Given the description of an element on the screen output the (x, y) to click on. 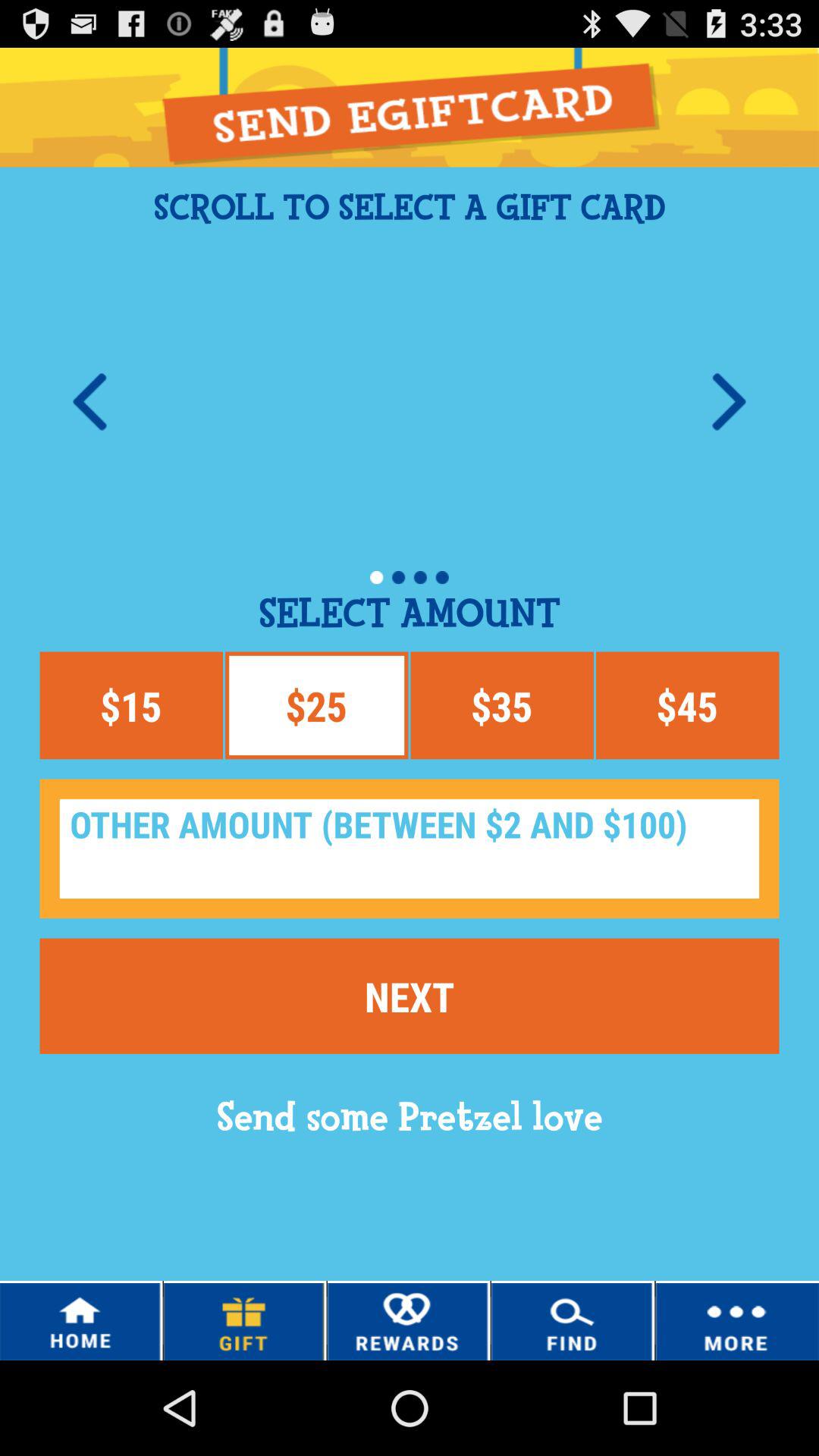
option right of find option  (737, 1320)
